Given the description of an element on the screen output the (x, y) to click on. 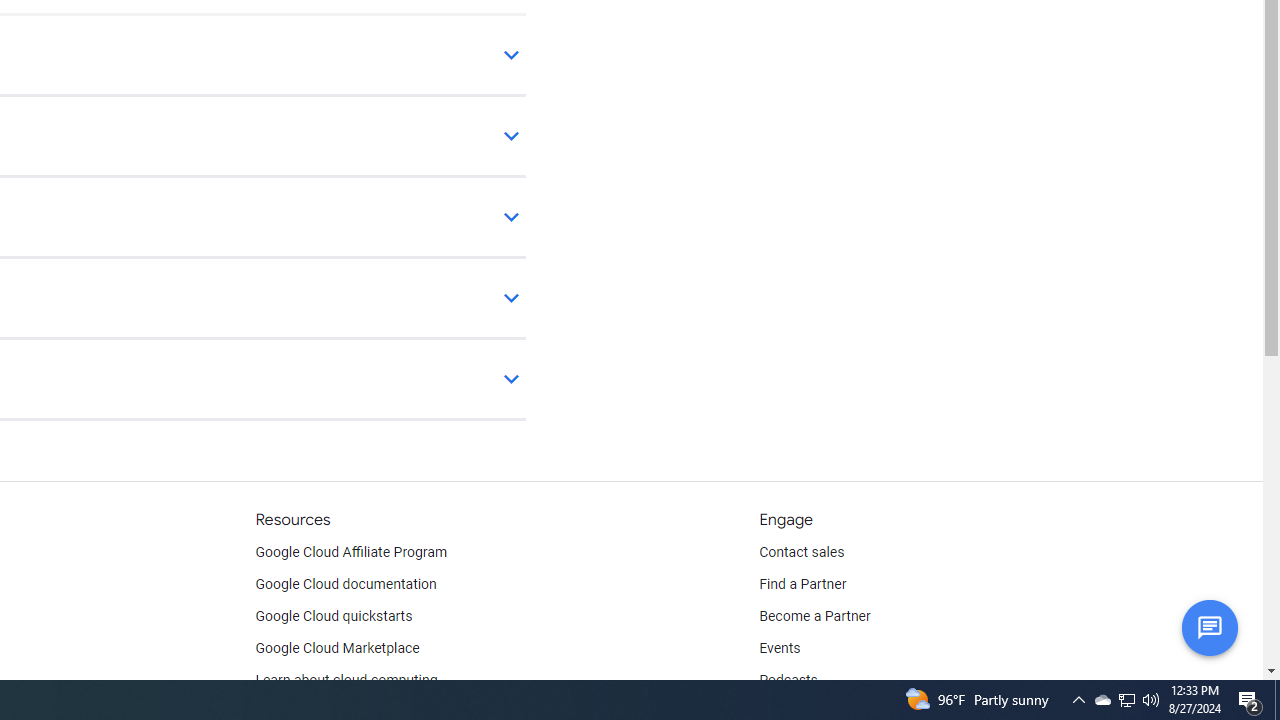
Podcasts (788, 680)
Find a Partner (803, 584)
Google Cloud documentation (345, 584)
Google Cloud quickstarts (333, 616)
Google Cloud Affiliate Program (351, 552)
Learn about cloud computing (345, 680)
Button to activate chat (1209, 627)
Contact sales (801, 552)
Events (780, 648)
Become a Partner (814, 616)
Google Cloud Marketplace (336, 648)
